Given the description of an element on the screen output the (x, y) to click on. 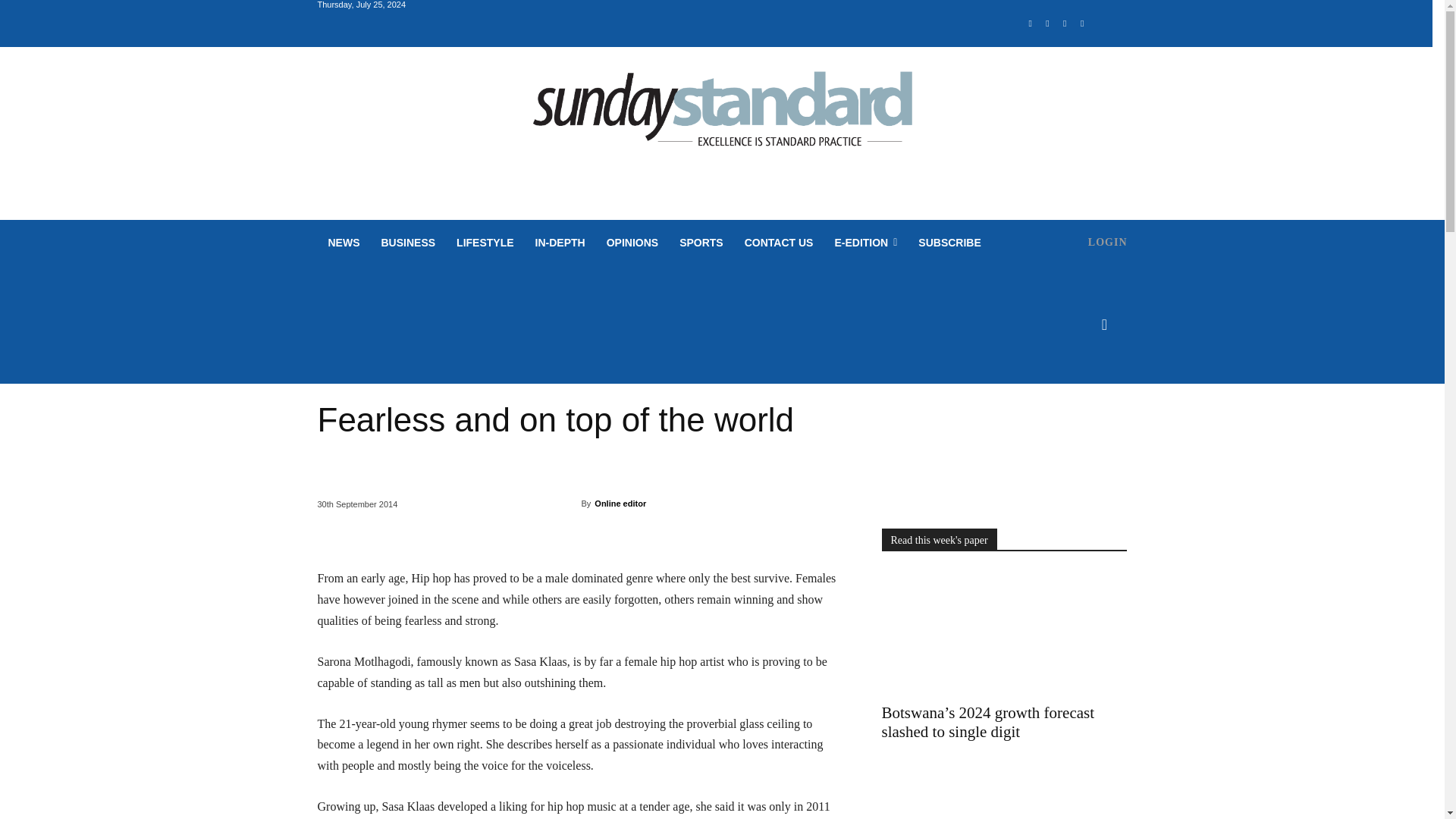
SPORTS (700, 242)
BUSINESS (407, 242)
OPINIONS (631, 242)
CONTACT US (778, 242)
E-EDITION (865, 242)
Facebook (1030, 23)
Youtube (1082, 23)
Sunday Standard (721, 114)
Instagram (1048, 23)
LIFESTYLE (484, 242)
Sunday Standard (721, 114)
IN-DEPTH (559, 242)
Twitter (1065, 23)
NEWS (343, 242)
